Given the description of an element on the screen output the (x, y) to click on. 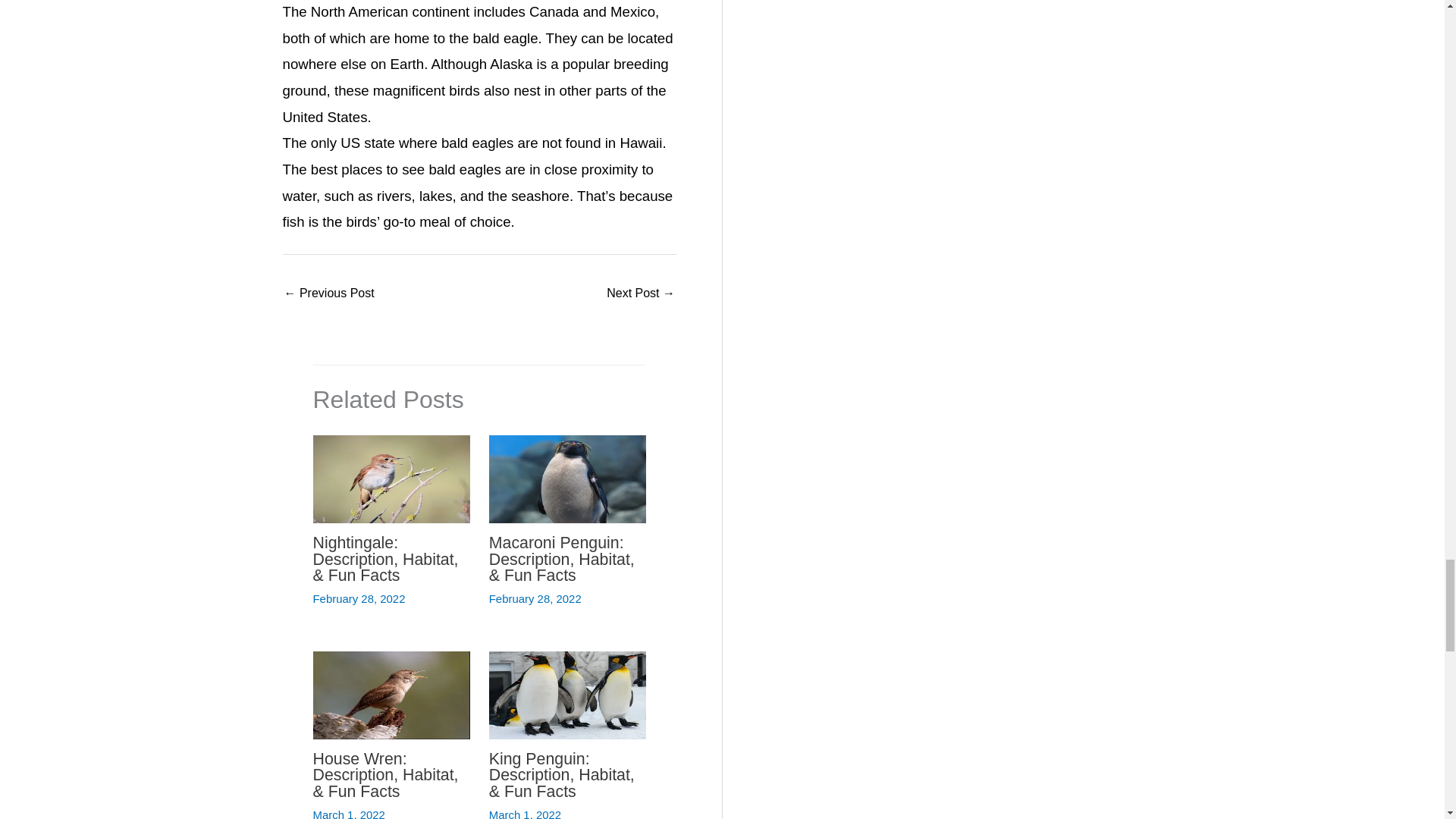
10 Best Small Dog Breeds for Limited Space (328, 294)
What is the State Bird of Maryland? (641, 294)
